Given the description of an element on the screen output the (x, y) to click on. 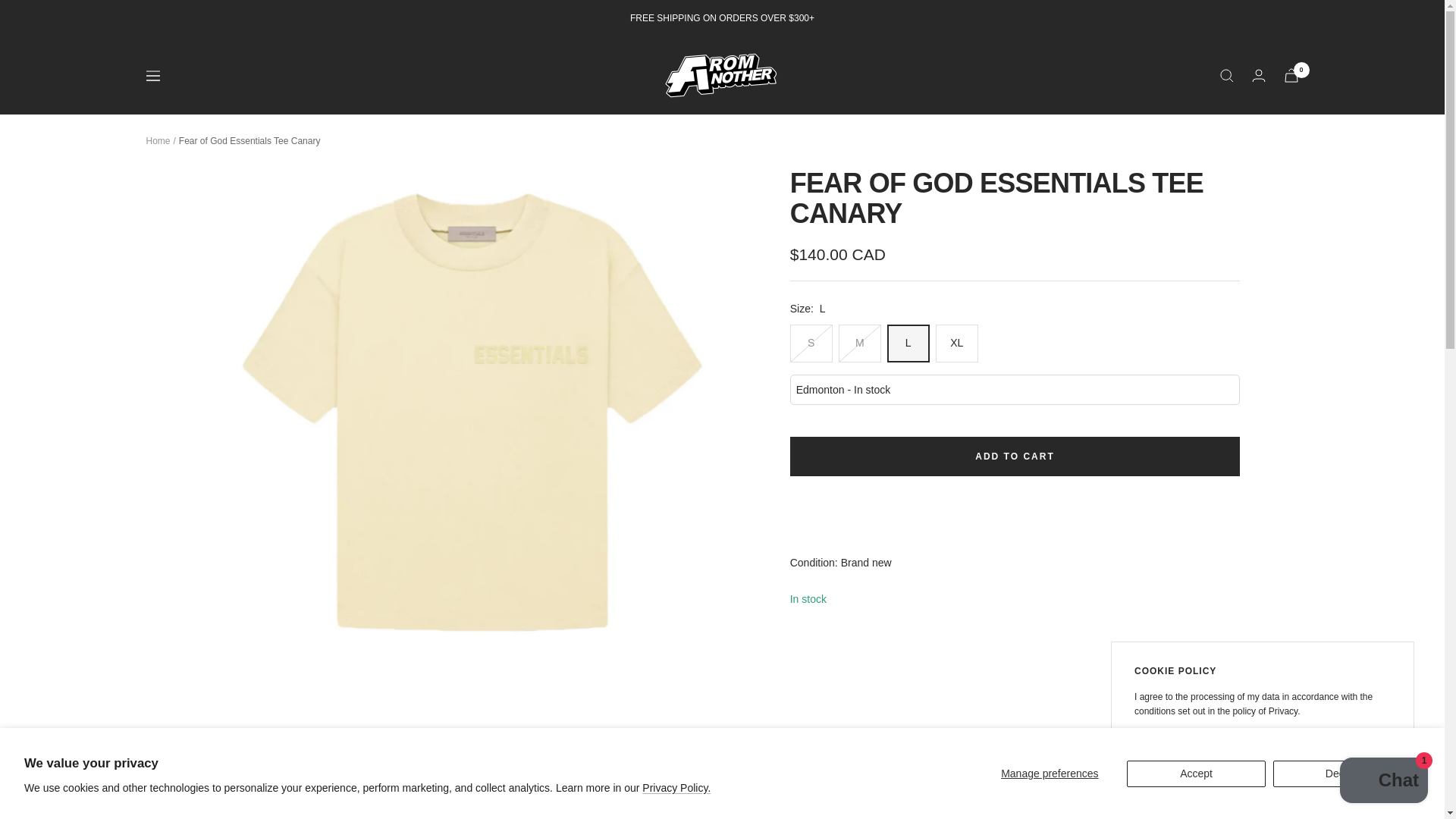
From Another (722, 75)
Home (157, 140)
Manage preferences (1049, 773)
0 (1290, 74)
Decline (1342, 773)
Accept (1196, 773)
ADD TO CART (1015, 455)
Privacy Policy. (676, 787)
Shopify online store chat (1383, 781)
Decline (1228, 748)
Navigation (151, 75)
Accept (1163, 748)
